Given the description of an element on the screen output the (x, y) to click on. 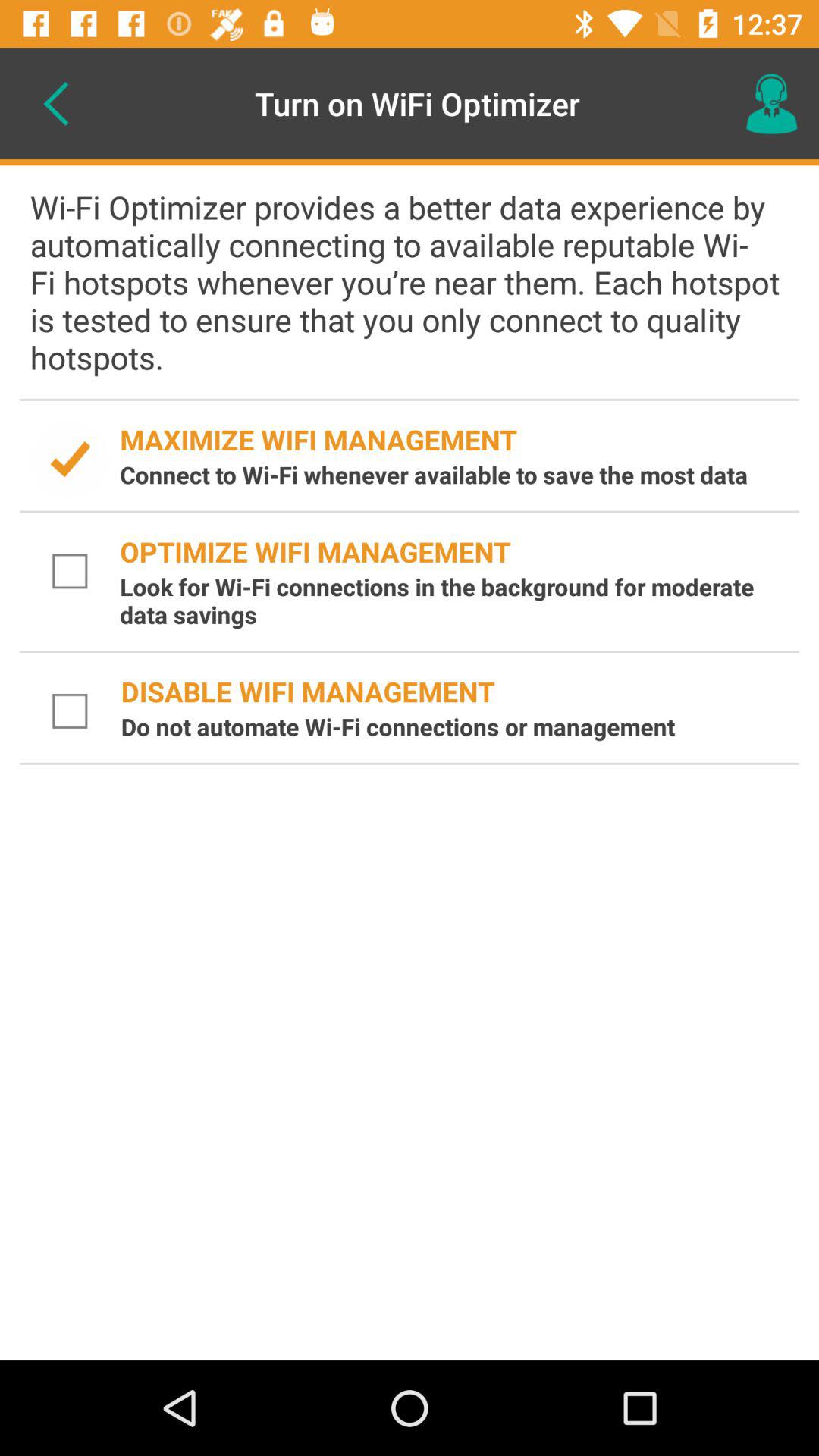
turn on icon at the top right corner (771, 103)
